Given the description of an element on the screen output the (x, y) to click on. 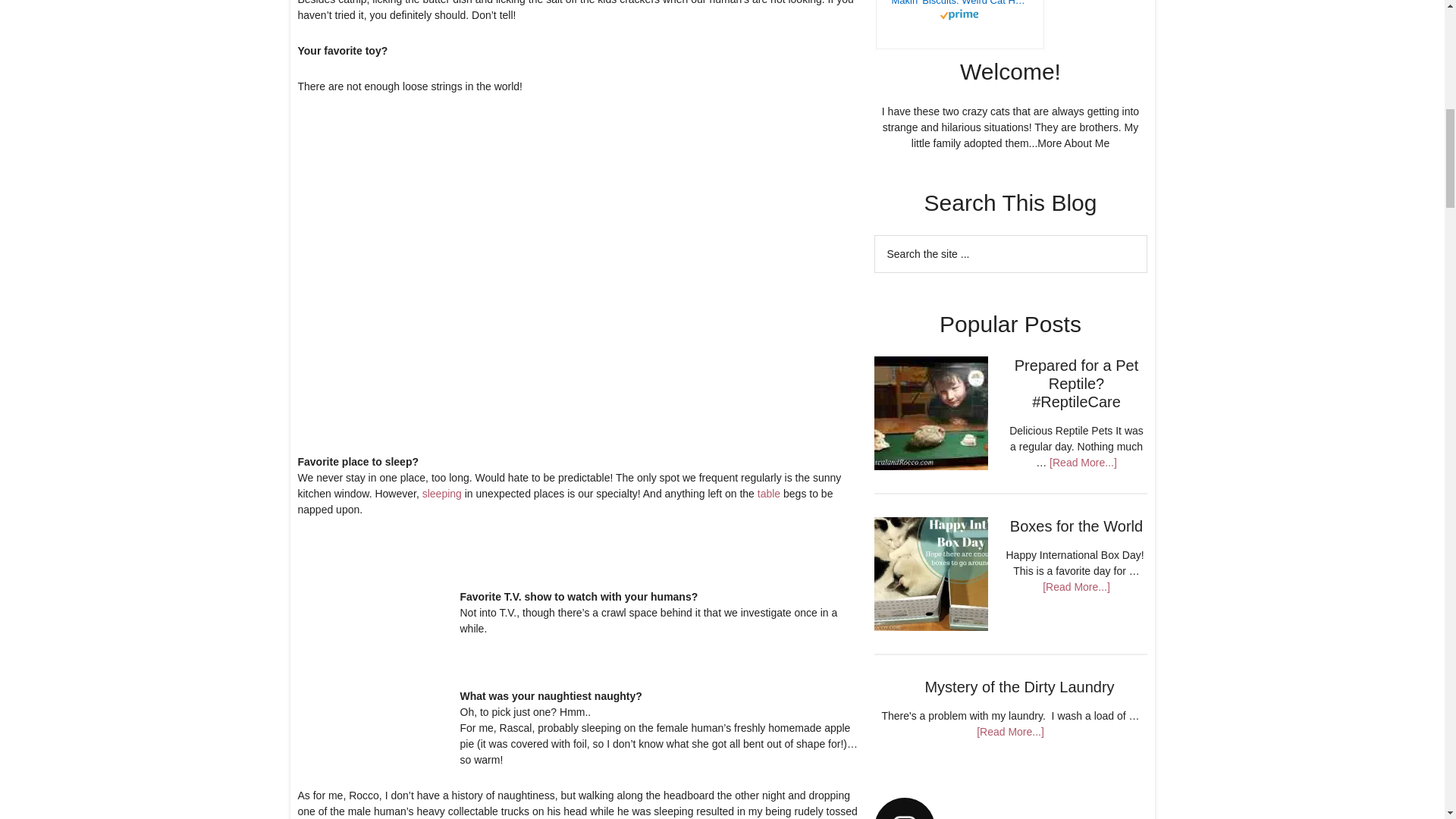
cat peeking out behind TV (383, 664)
sleeping (441, 493)
Cat napping in sun kitchen window (581, 297)
table (768, 493)
